Given the description of an element on the screen output the (x, y) to click on. 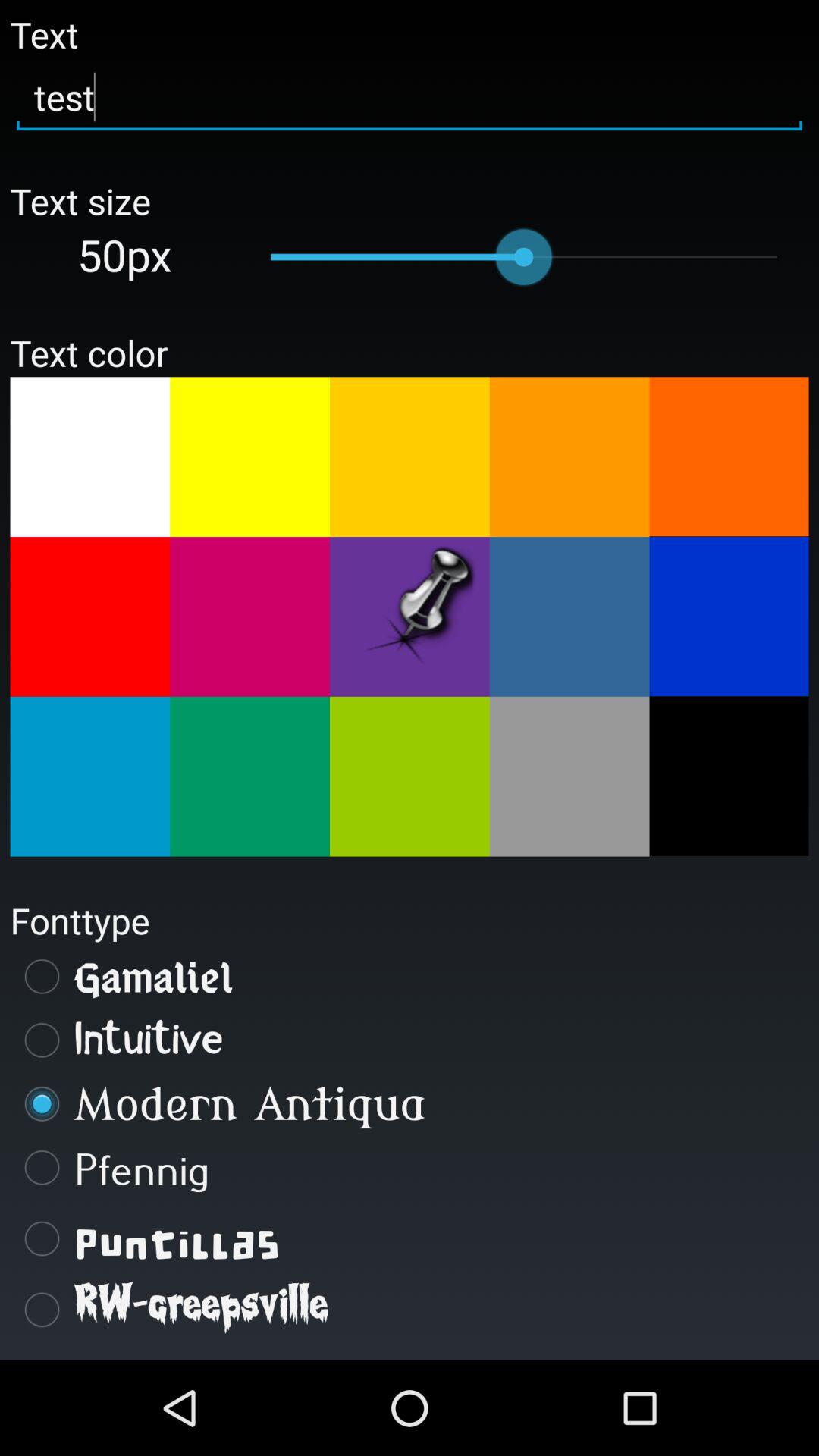
pick color (569, 456)
